Given the description of an element on the screen output the (x, y) to click on. 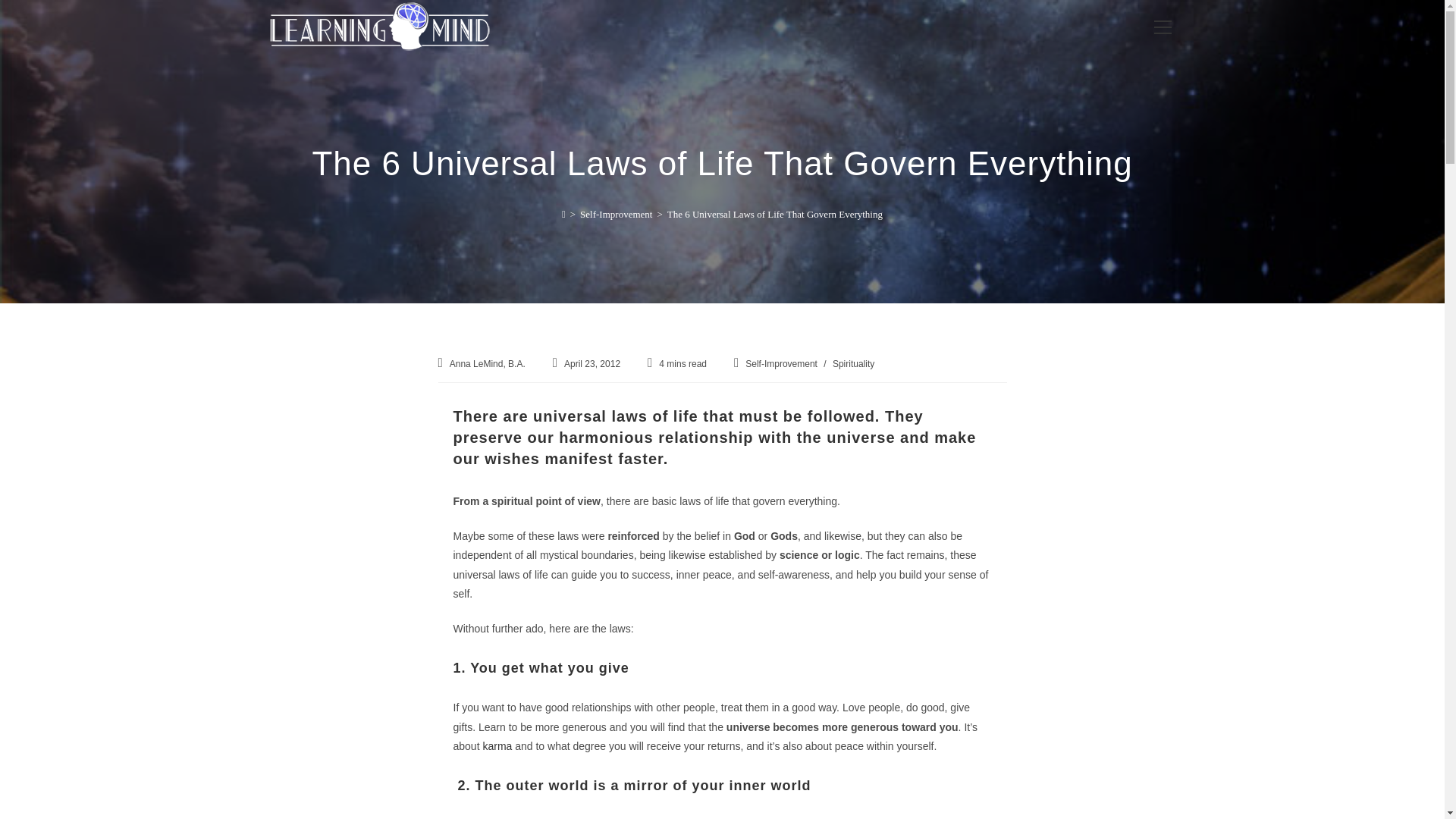
Self-Improvement (780, 363)
Anna LeMind, B.A. (487, 363)
Posts by Anna LeMind, B.A. (487, 363)
Spirituality (853, 363)
View website Menu (1162, 27)
Self-Improvement (615, 214)
The 6 Universal Laws of Life That Govern Everything (774, 214)
